Given the description of an element on the screen output the (x, y) to click on. 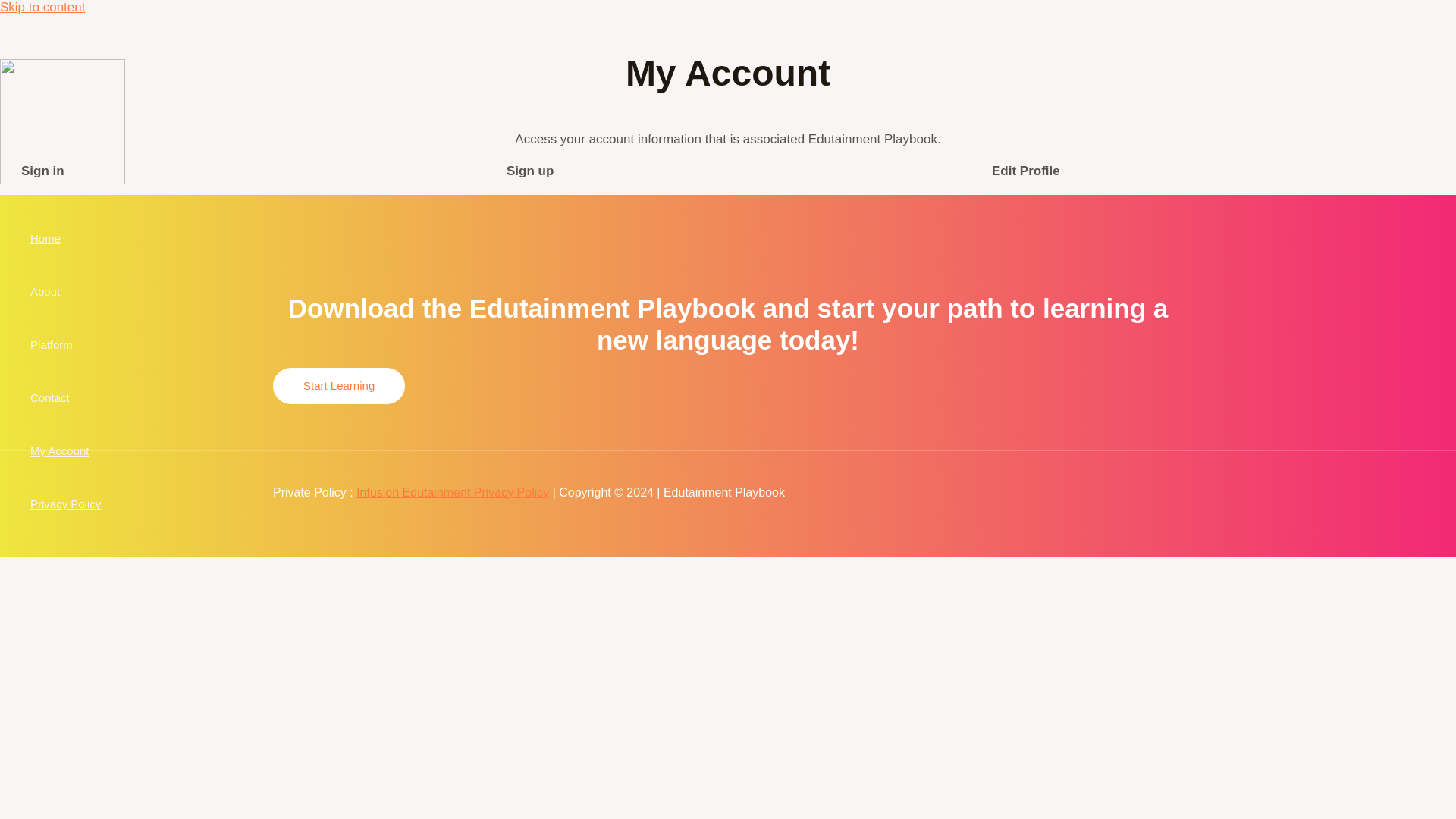
Start Learning (338, 385)
Privacy Policy (65, 503)
Skip to content (42, 7)
Platform (65, 344)
My Account (65, 451)
About (65, 291)
Contact (65, 398)
Infusion Edutainment Privacy Policy (452, 492)
Skip to content (42, 7)
Home (65, 238)
